Given the description of an element on the screen output the (x, y) to click on. 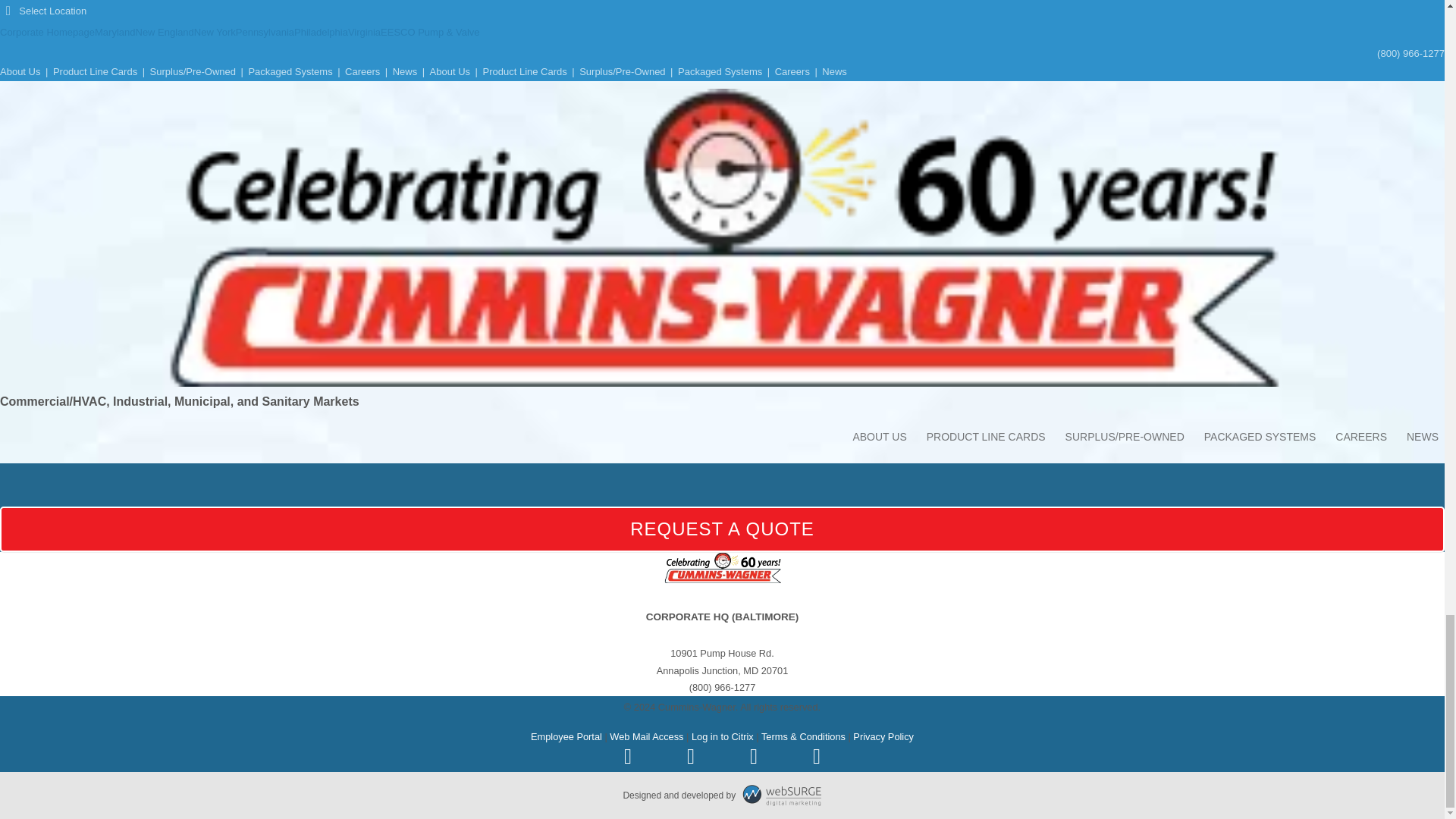
Log in to Citrix (722, 736)
Privacy Policy (883, 736)
Employee Portal (566, 736)
Web Mail Access (646, 736)
